Given the description of an element on the screen output the (x, y) to click on. 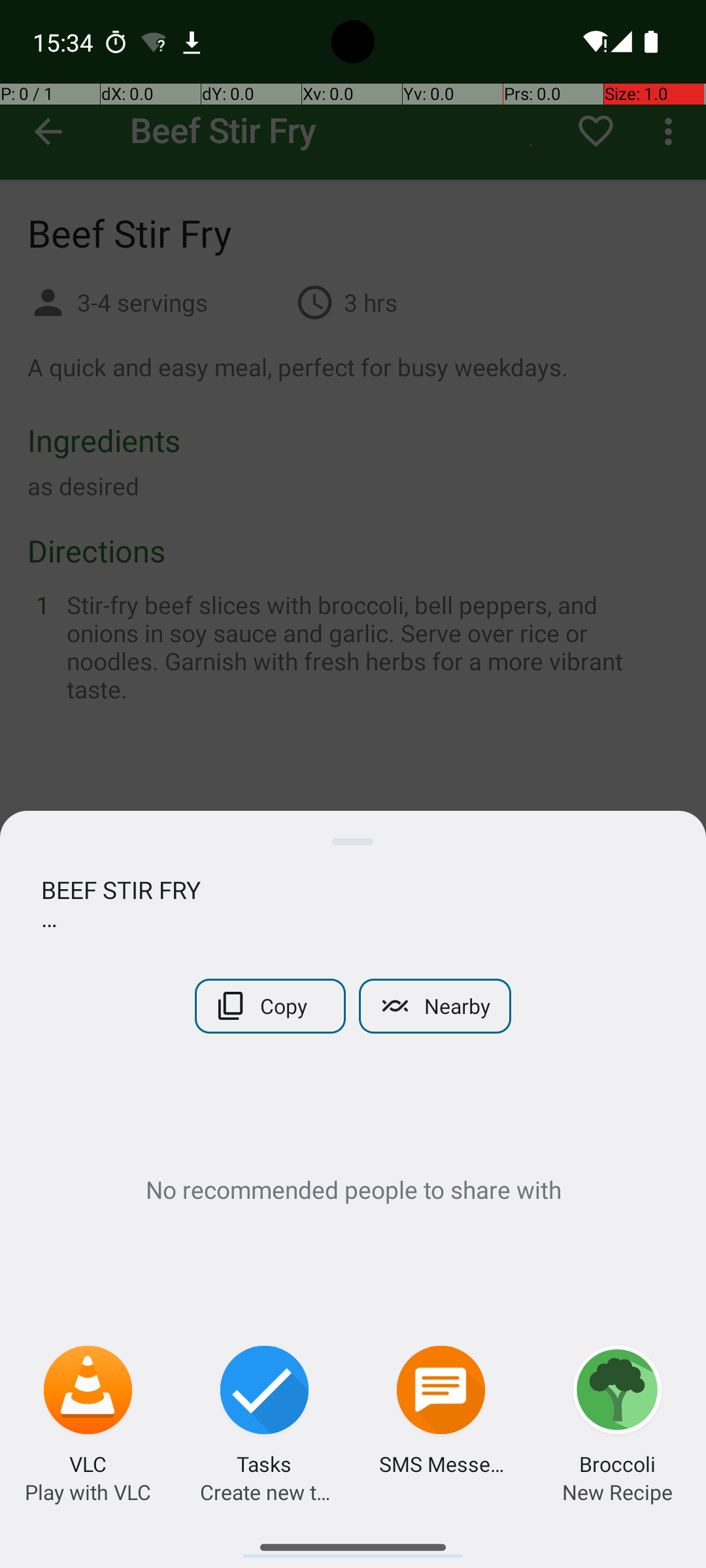
BEEF STIR FRY

Servings: 3-4 servings
Time: 3 hrs

A quick and easy meal, perfect for busy weekdays.

Ingredients:
- as desired

Directions:
1. Stir-fry beef slices with broccoli, bell peppers, and onions in soy sauce and garlic. Serve over rice or noodles. Garnish with fresh herbs for a more vibrant taste.

Shared with https://play.google.com/store/apps/details?id=com.flauschcode.broccoli Element type: android.widget.TextView (352, 903)
